Given the description of an element on the screen output the (x, y) to click on. 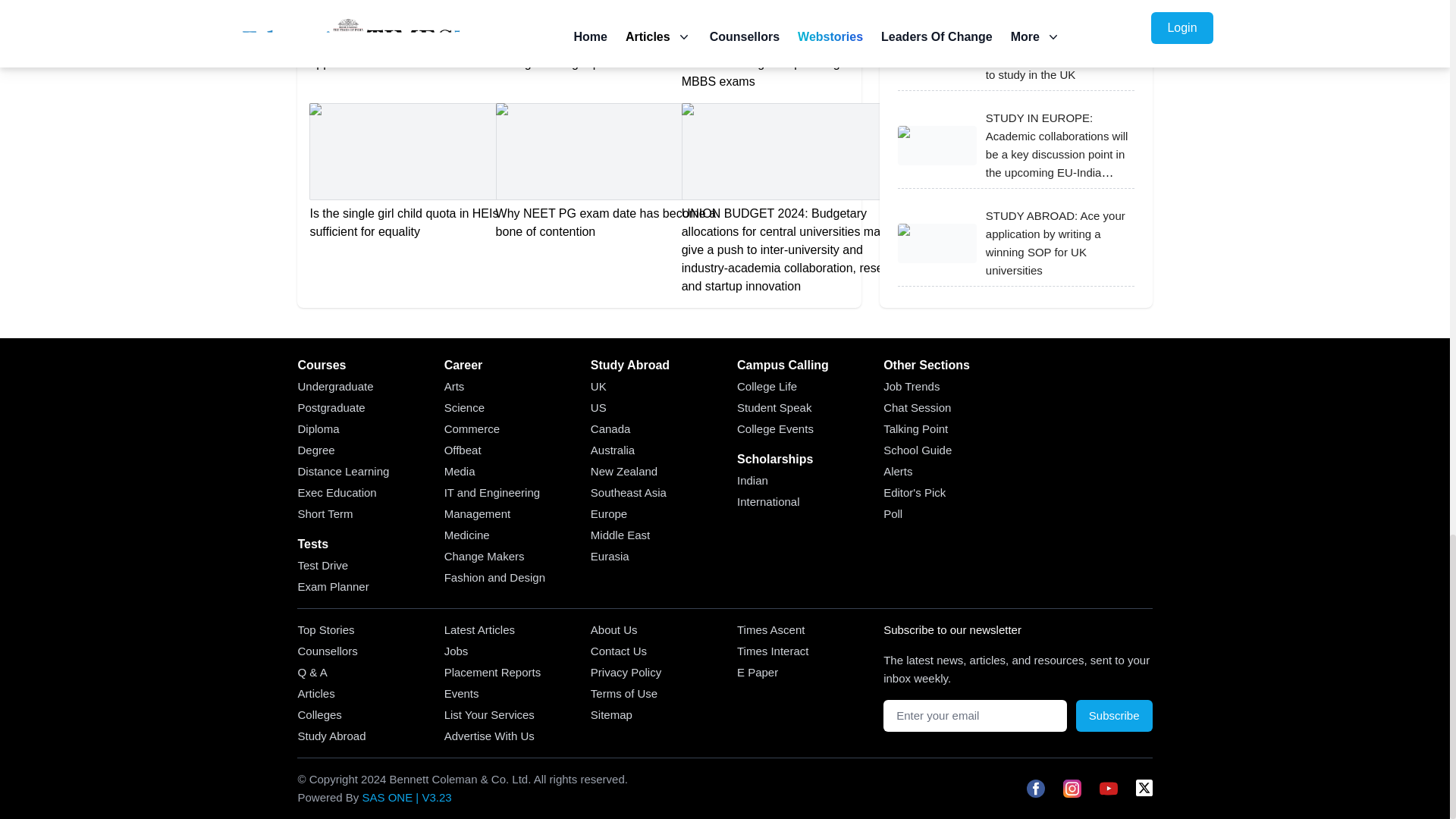
Why NEET PG exam date has become a bone of contention (609, 171)
